Given the description of an element on the screen output the (x, y) to click on. 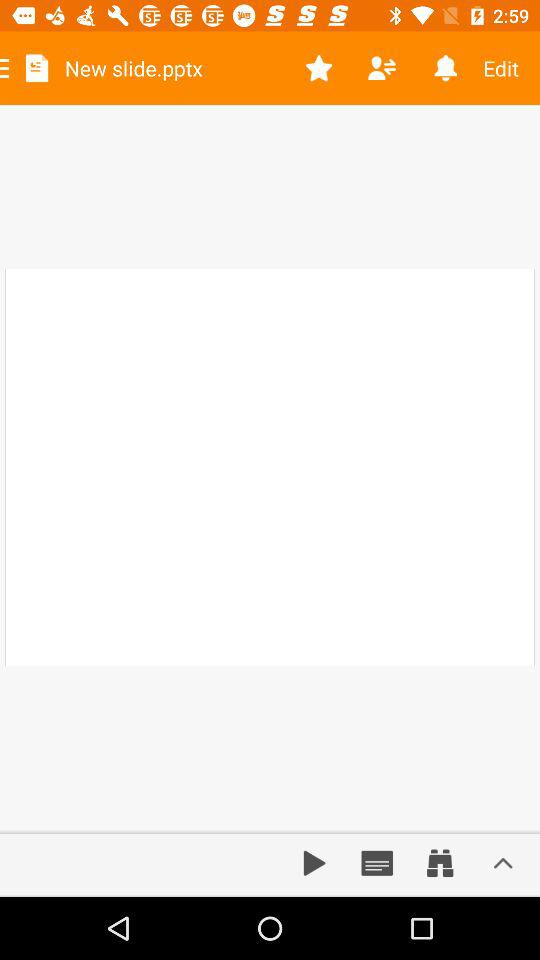
tap icon to the right of new slide.pptx (318, 68)
